Given the description of an element on the screen output the (x, y) to click on. 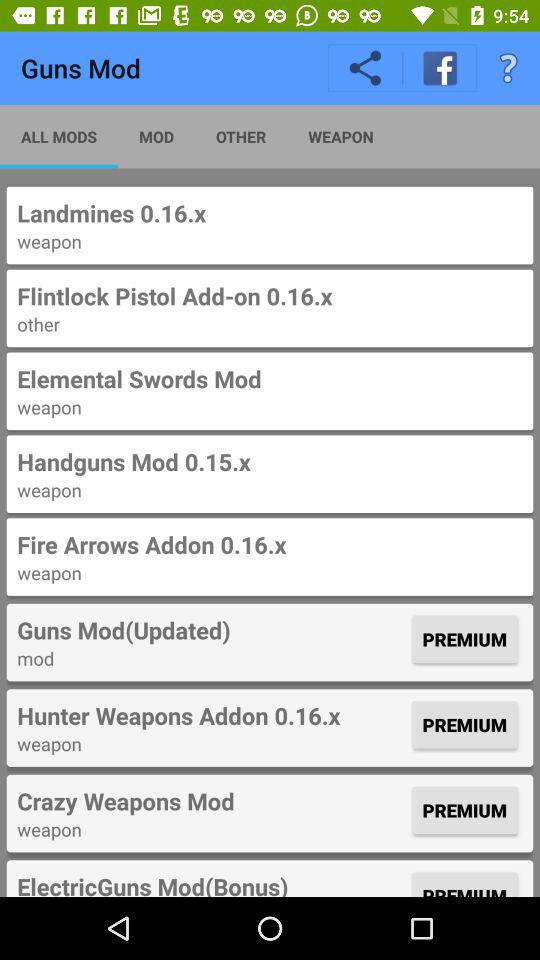
turn on item below weapon icon (269, 295)
